Given the description of an element on the screen output the (x, y) to click on. 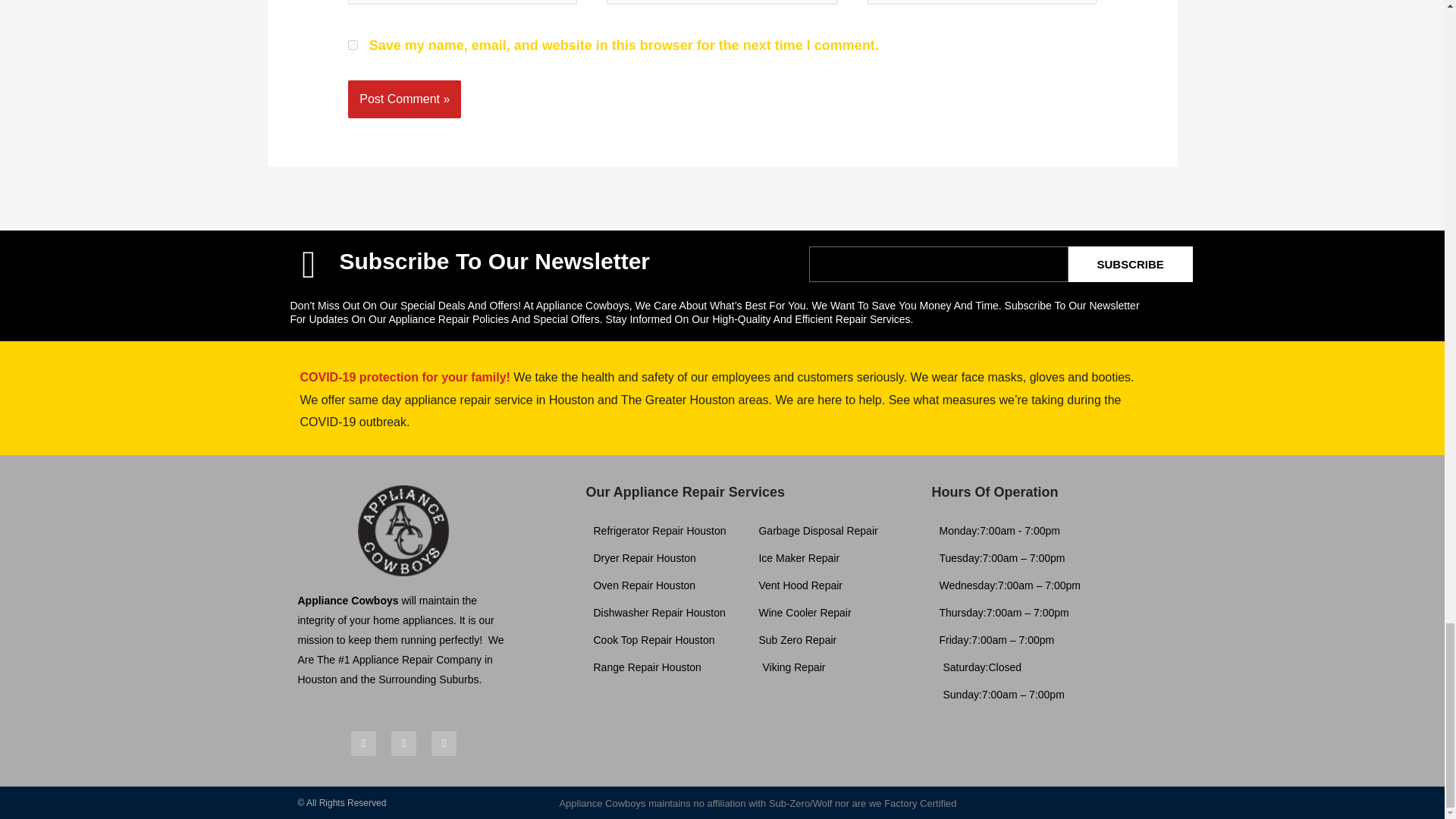
yes (352, 44)
